Given the description of an element on the screen output the (x, y) to click on. 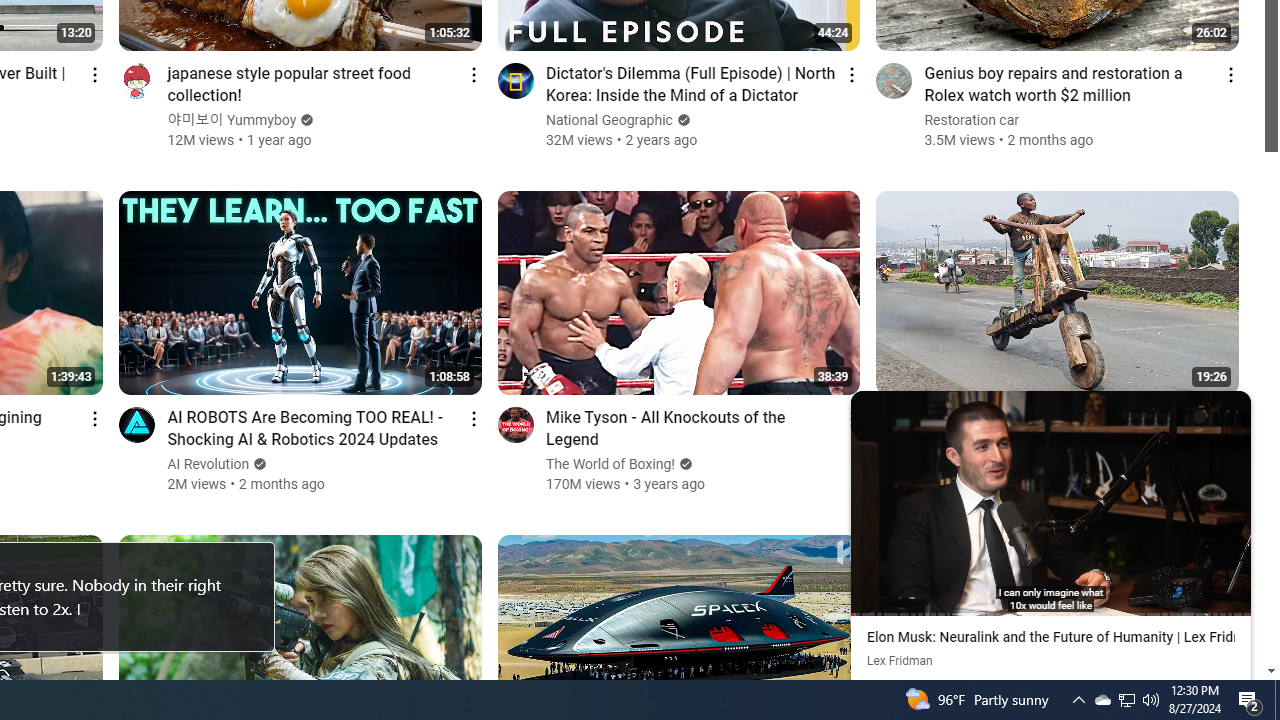
Restoration car (972, 120)
Go to channel (893, 424)
Verified (980, 442)
The World of Boxing! (611, 464)
AI Revolution (208, 464)
